Given the description of an element on the screen output the (x, y) to click on. 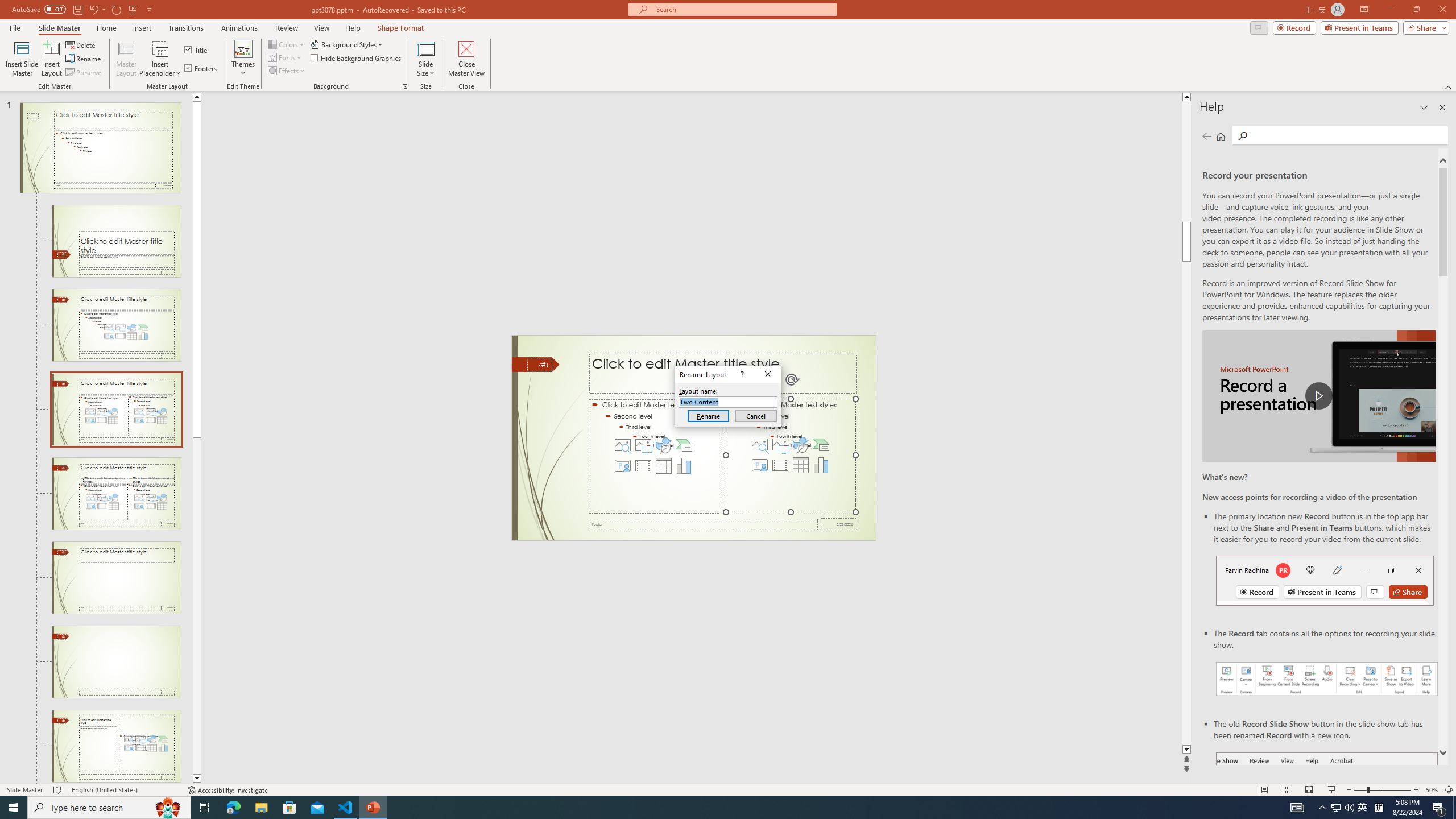
Zoom 95% (1438, 773)
Undo <ApplyStyleToDoc>b__0 (159, 18)
Class: NetUIScrollBar (1164, 449)
